Given the description of an element on the screen output the (x, y) to click on. 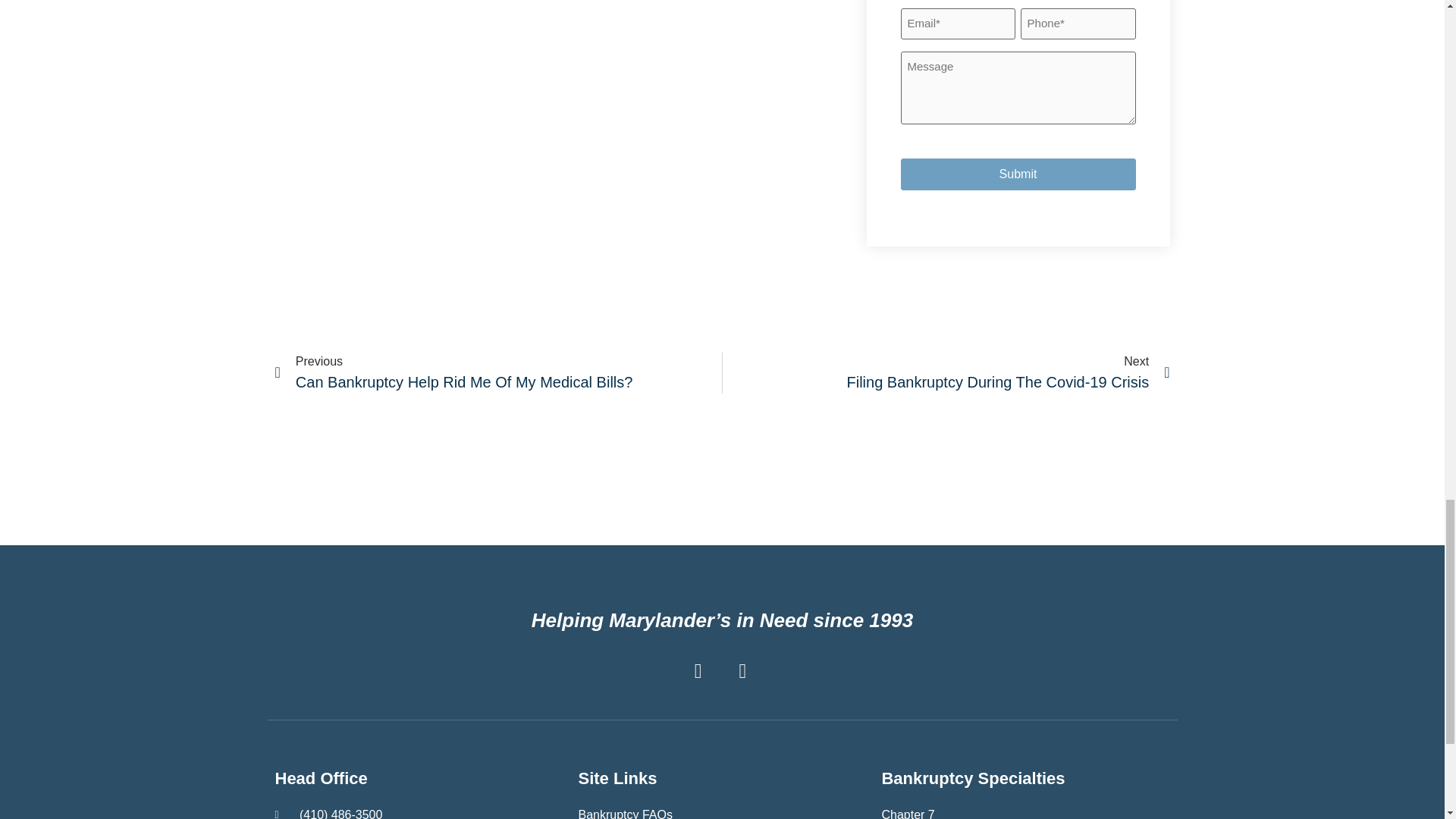
Submit (1018, 174)
Submit (1018, 174)
